Given the description of an element on the screen output the (x, y) to click on. 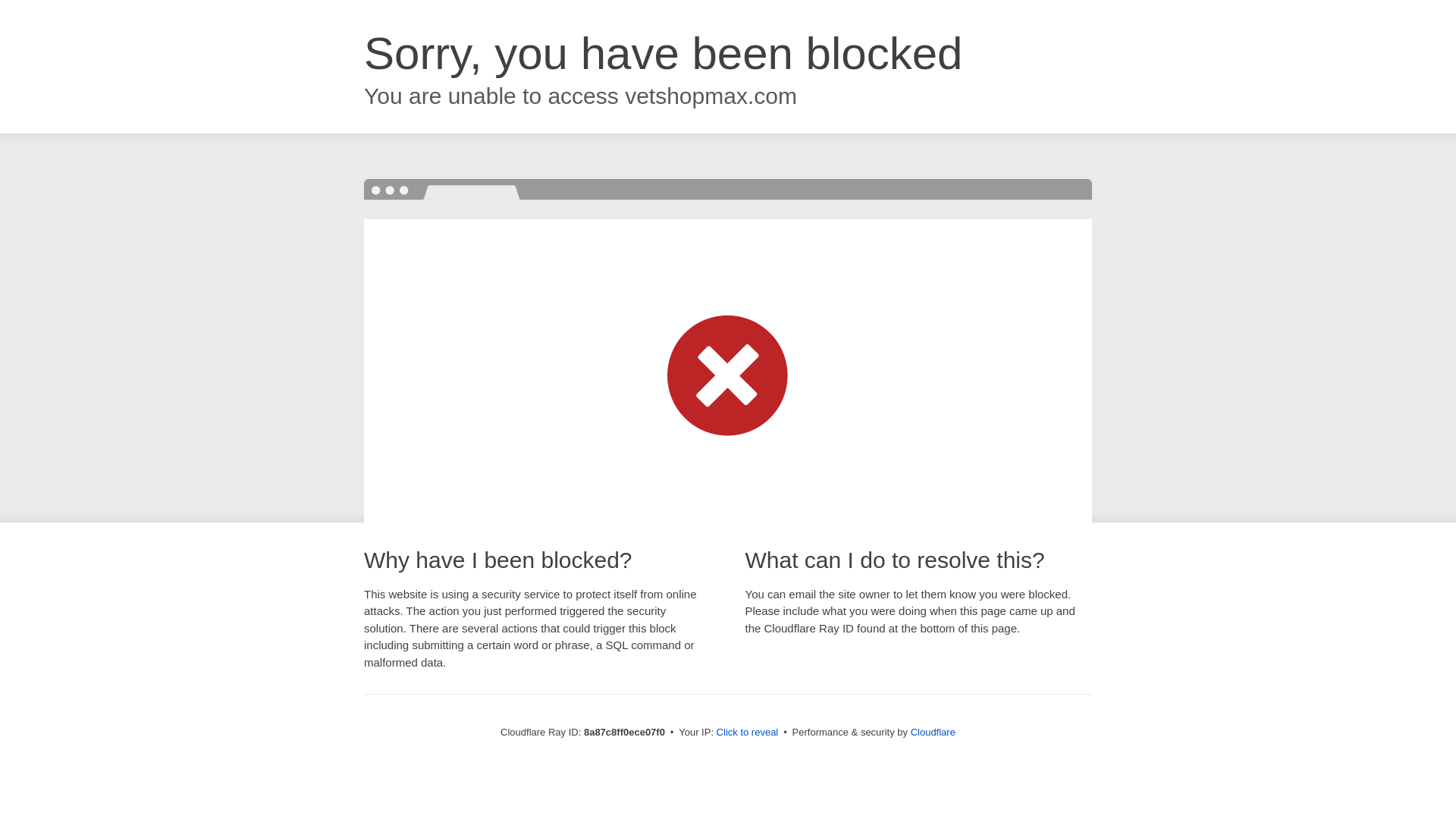
Click to reveal (747, 732)
Cloudflare (933, 731)
